Given the description of an element on the screen output the (x, y) to click on. 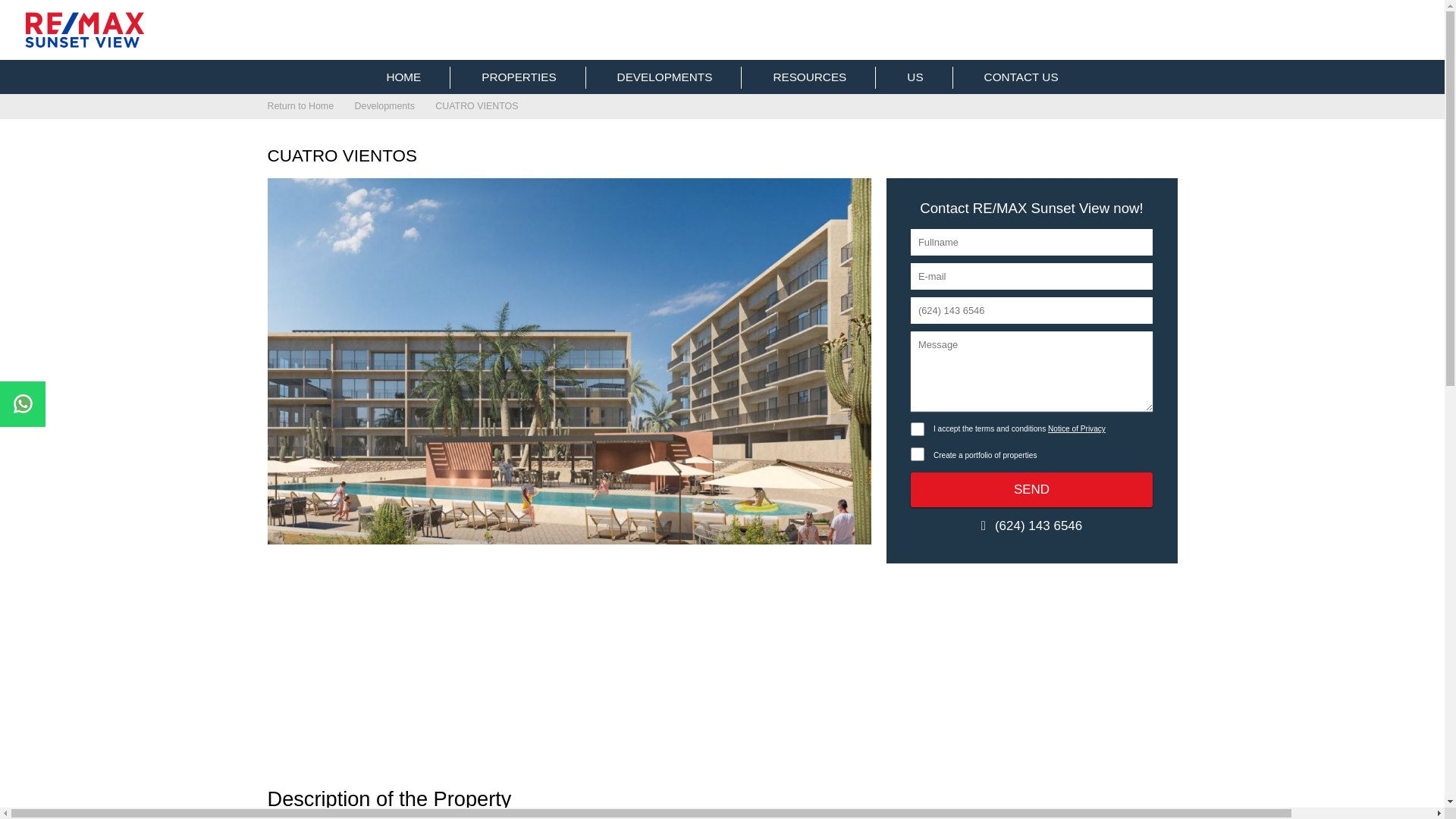
WhatsApp (22, 402)
DEVELOPMENTS (664, 76)
PROPERTIES (518, 76)
Developments (664, 76)
HOME (403, 76)
Properties (518, 76)
Home (403, 76)
